Given the description of an element on the screen output the (x, y) to click on. 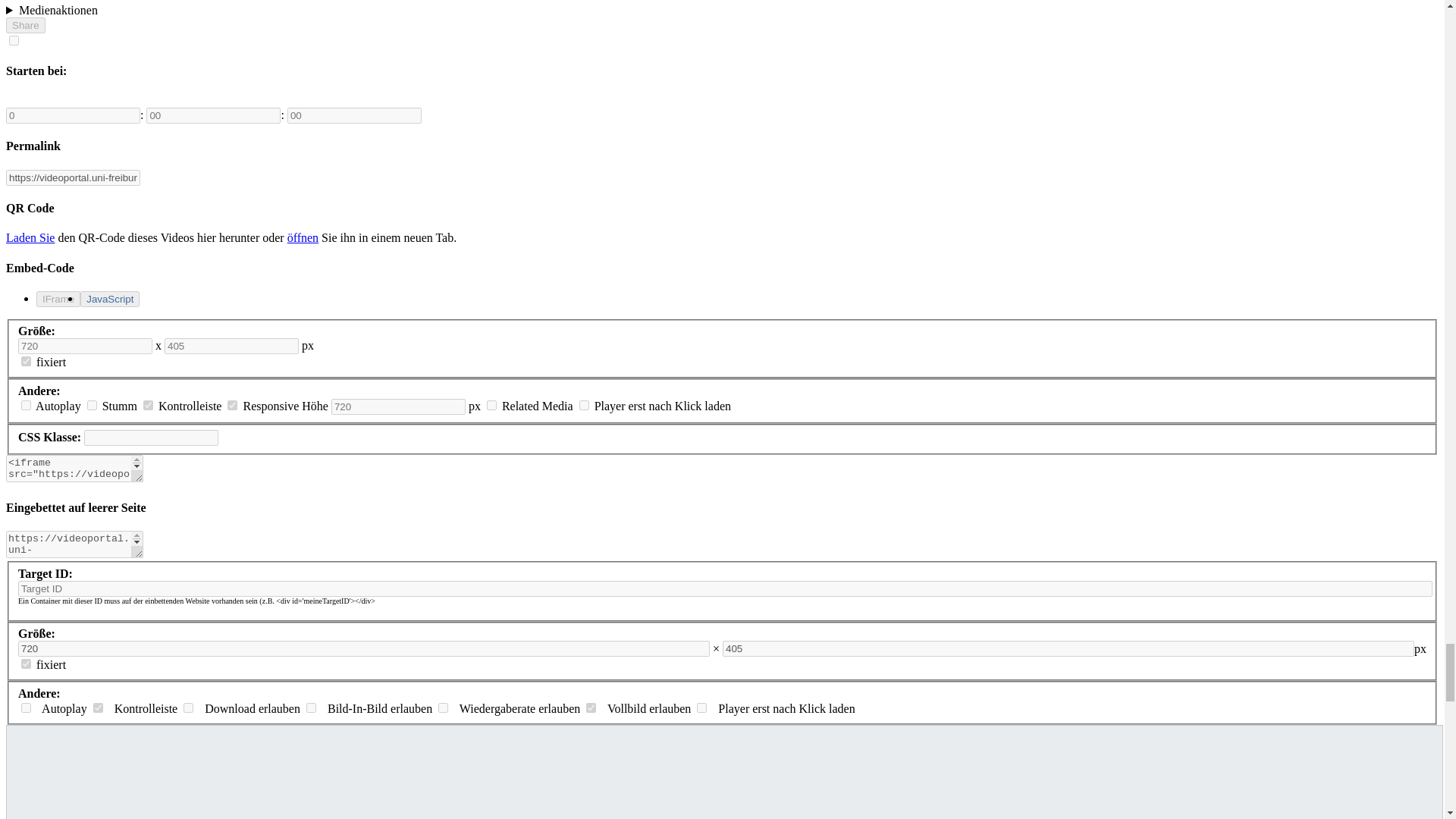
1 (232, 405)
1 (147, 405)
1 (25, 361)
